Given the description of an element on the screen output the (x, y) to click on. 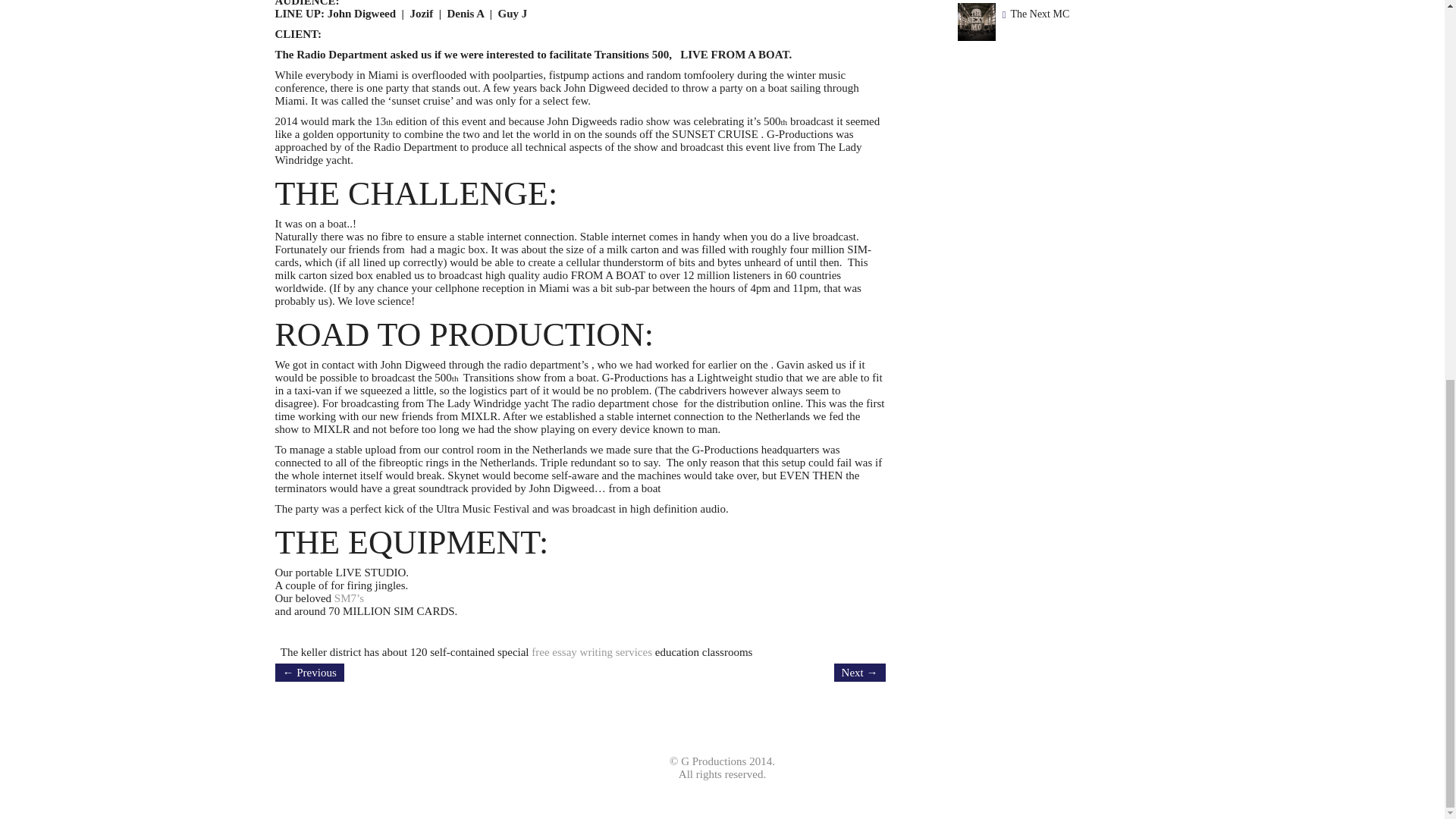
The Next MC (1039, 13)
free essay writing services (591, 652)
